Given the description of an element on the screen output the (x, y) to click on. 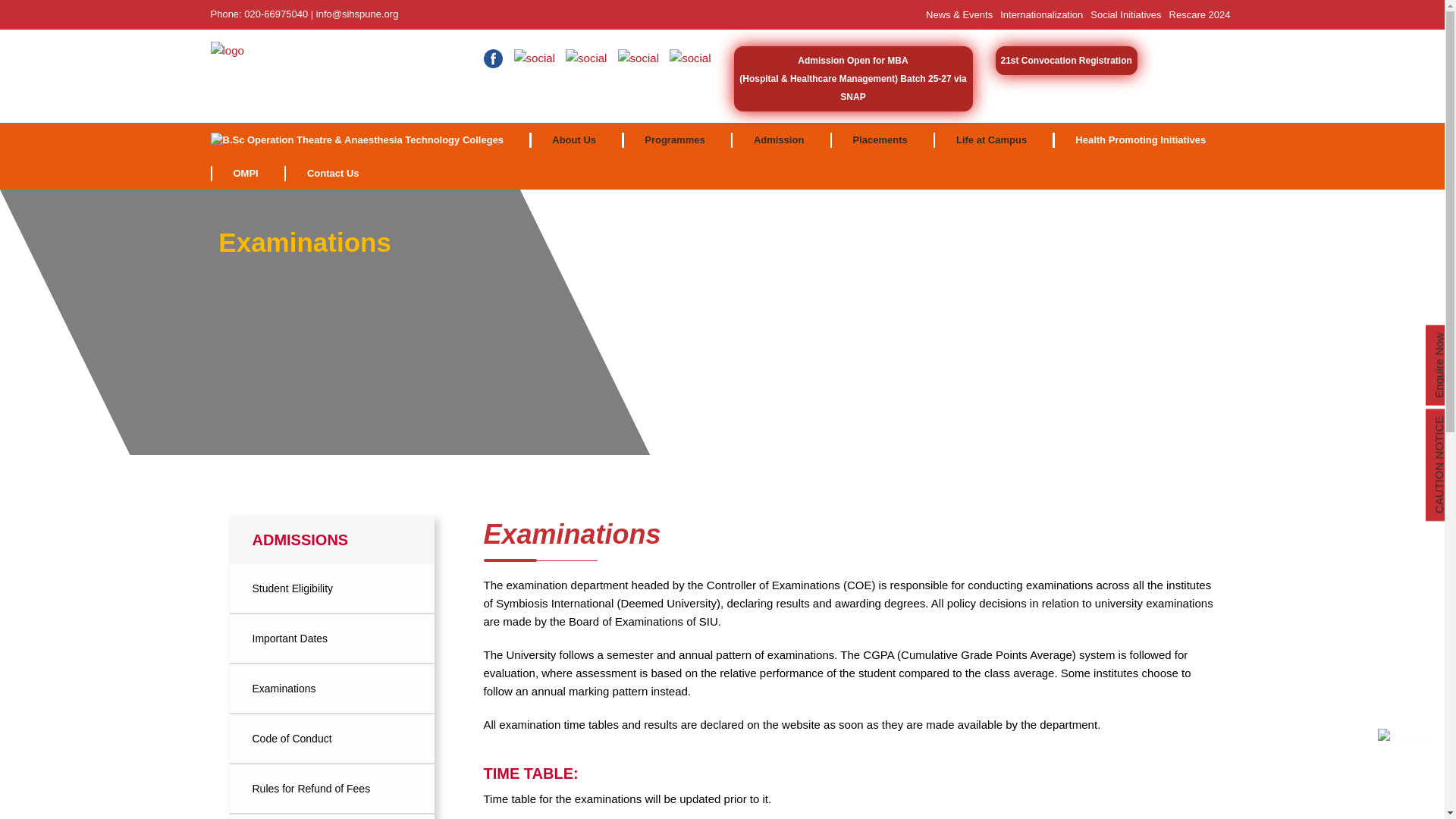
21st Convocation Registration (1066, 60)
About Us (573, 140)
21st Convocation Registration (1065, 60)
Internationalization (1041, 14)
Social Initiatives (1125, 14)
Rescare 2024 (1199, 14)
